Given the description of an element on the screen output the (x, y) to click on. 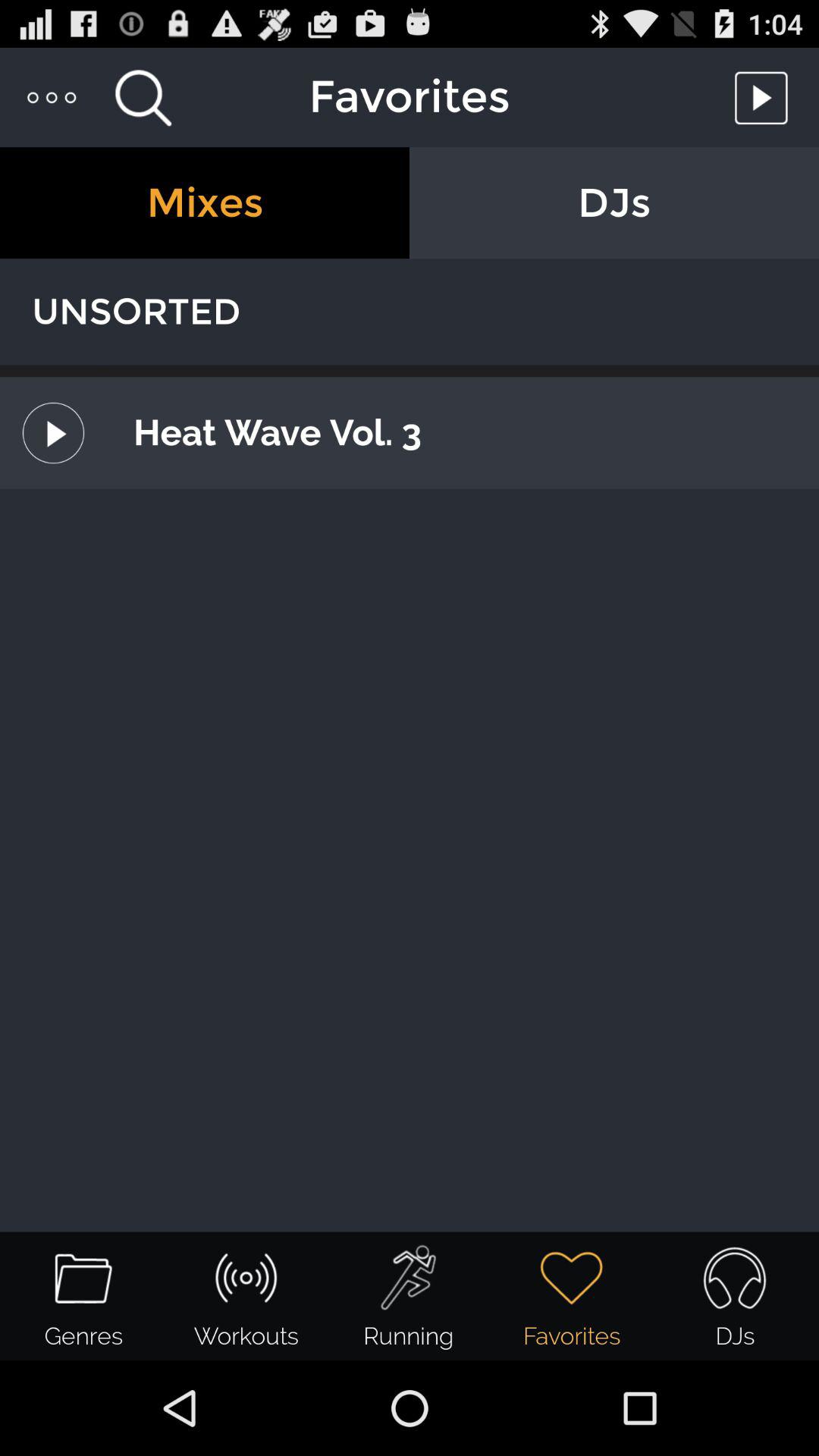
play selection (765, 97)
